Given the description of an element on the screen output the (x, y) to click on. 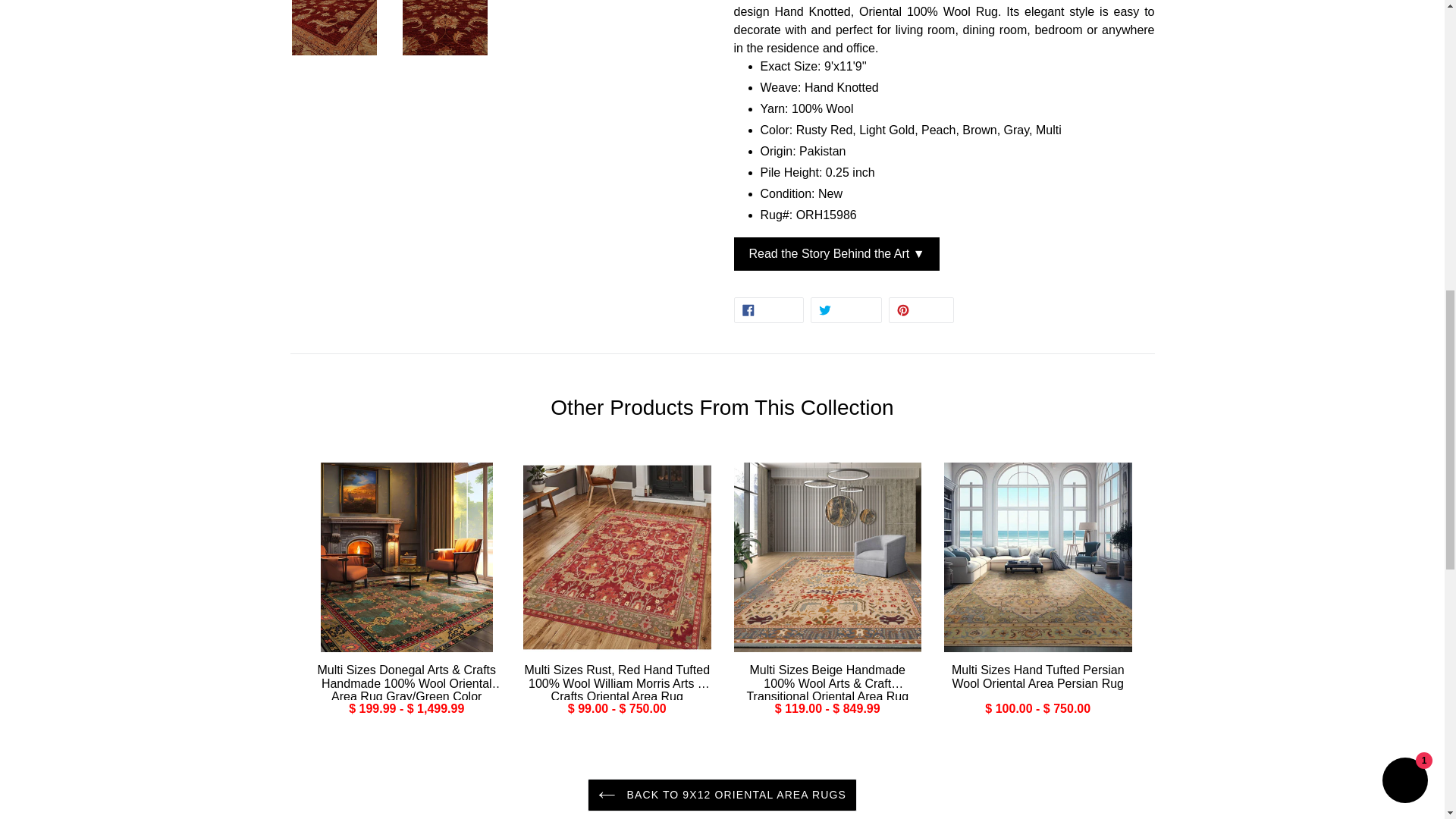
Tweet on Twitter (845, 309)
Share on Facebook (768, 309)
Pin on Pinterest (920, 309)
